Given the description of an element on the screen output the (x, y) to click on. 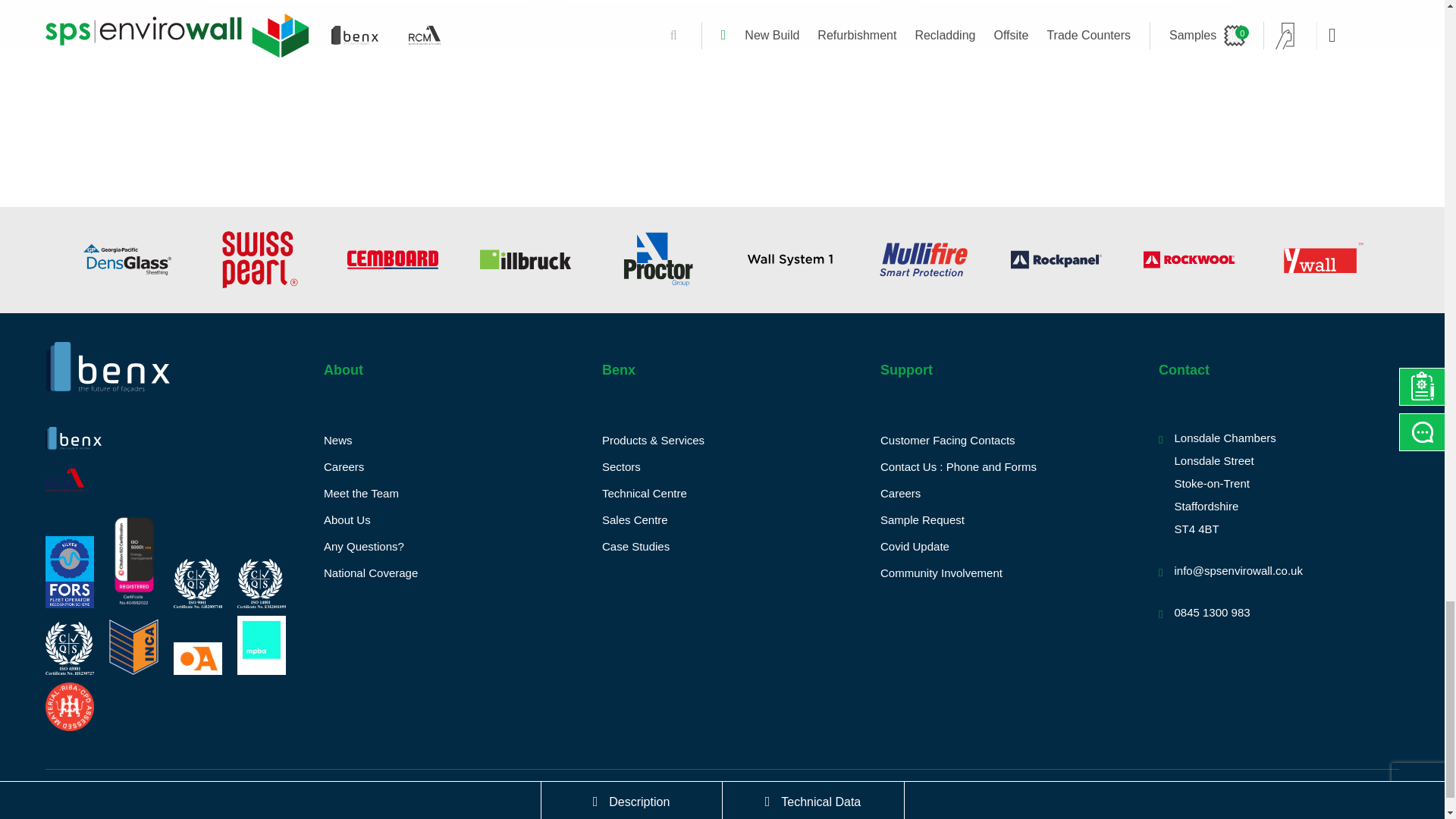
offsite alliance (197, 658)
ISO 45001 (69, 647)
ISO 14001 (261, 583)
Website Created By SO Marketing (1332, 794)
ISO 9001 (197, 583)
